Given the description of an element on the screen output the (x, y) to click on. 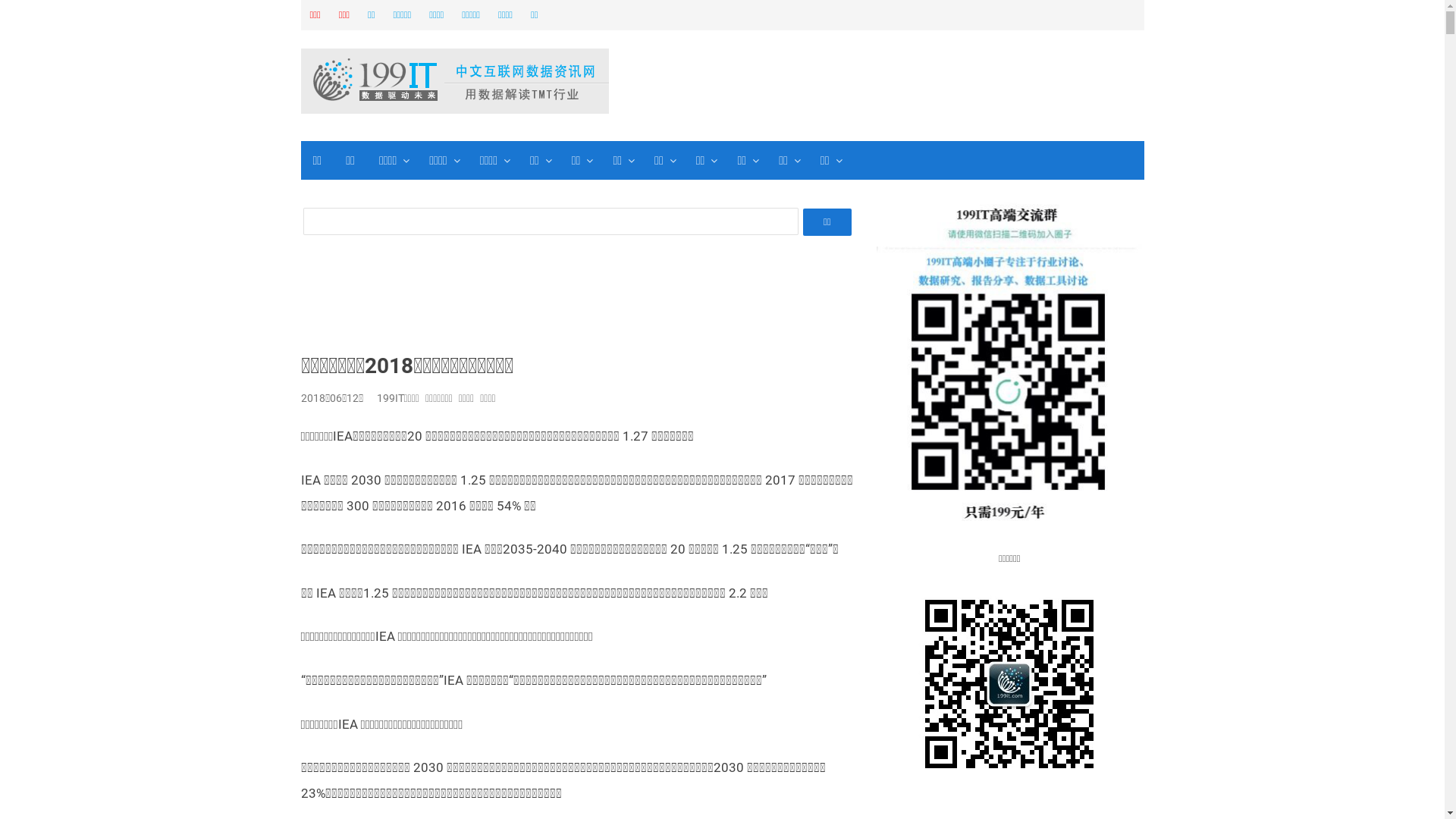
Advertisement Element type: hover (578, 301)
Advertisement Element type: hover (915, 82)
